Given the description of an element on the screen output the (x, y) to click on. 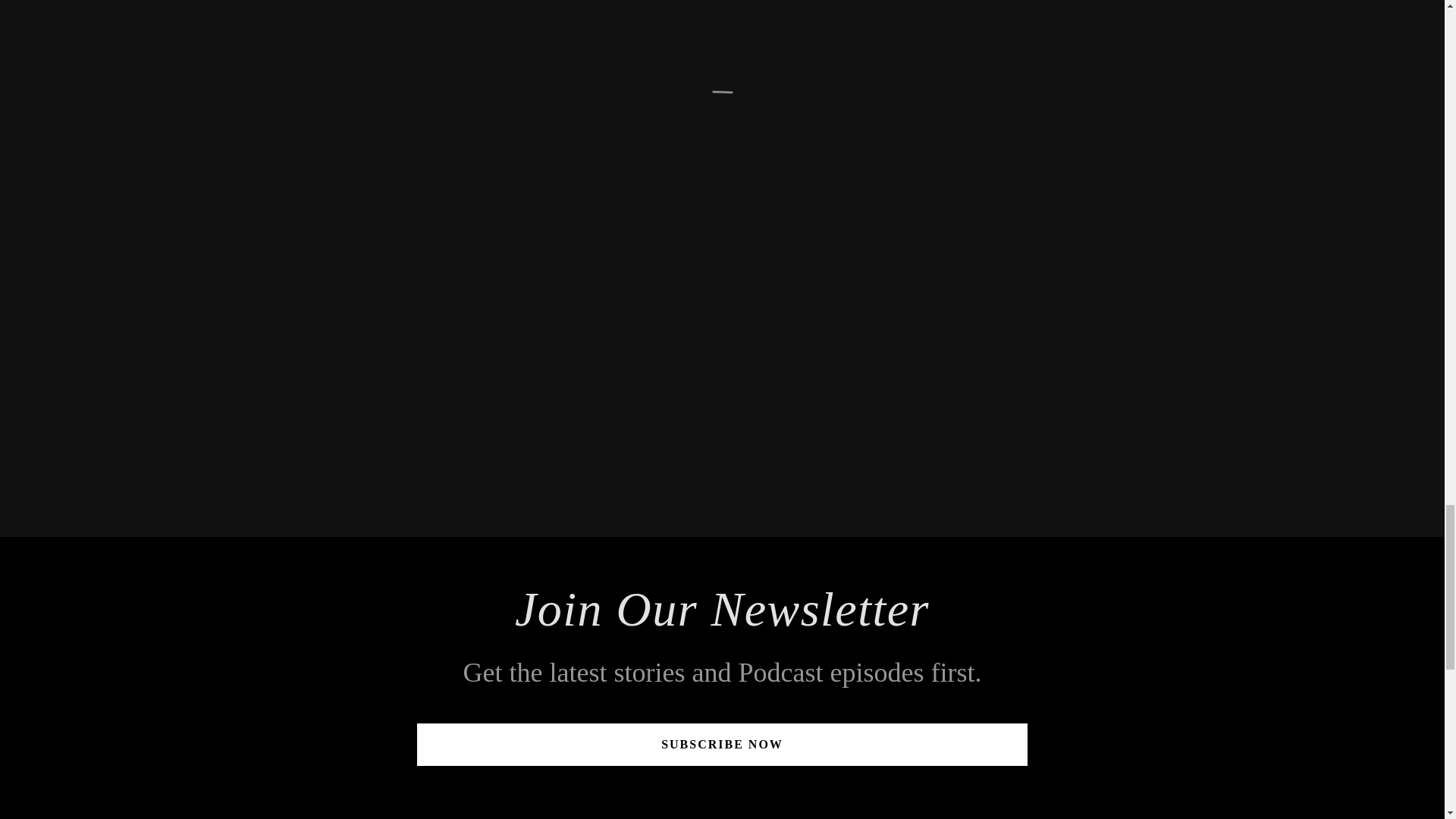
SUBSCRIBE NOW (721, 744)
